Given the description of an element on the screen output the (x, y) to click on. 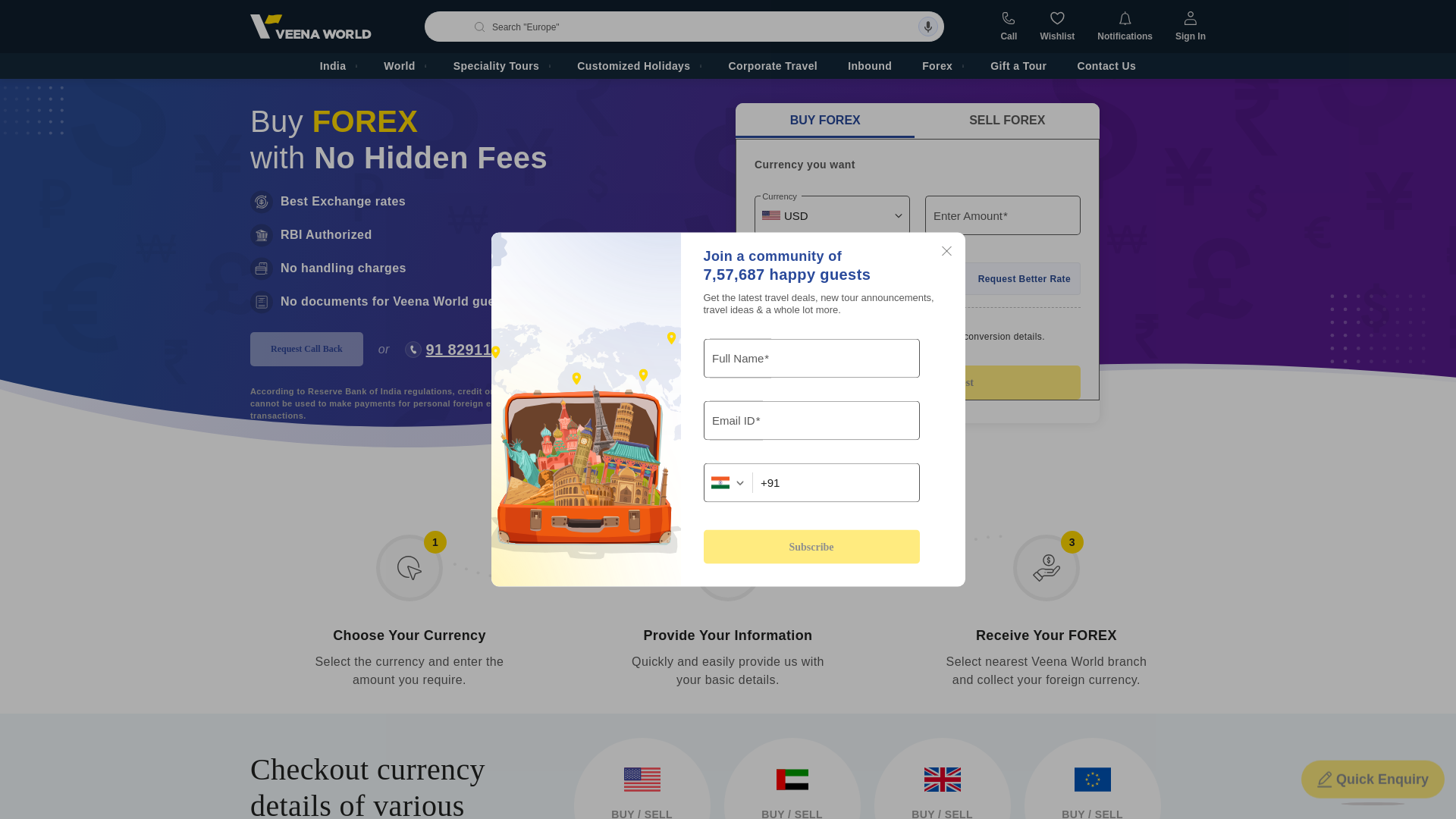
India (336, 65)
Wishlist (1056, 26)
